Given the description of an element on the screen output the (x, y) to click on. 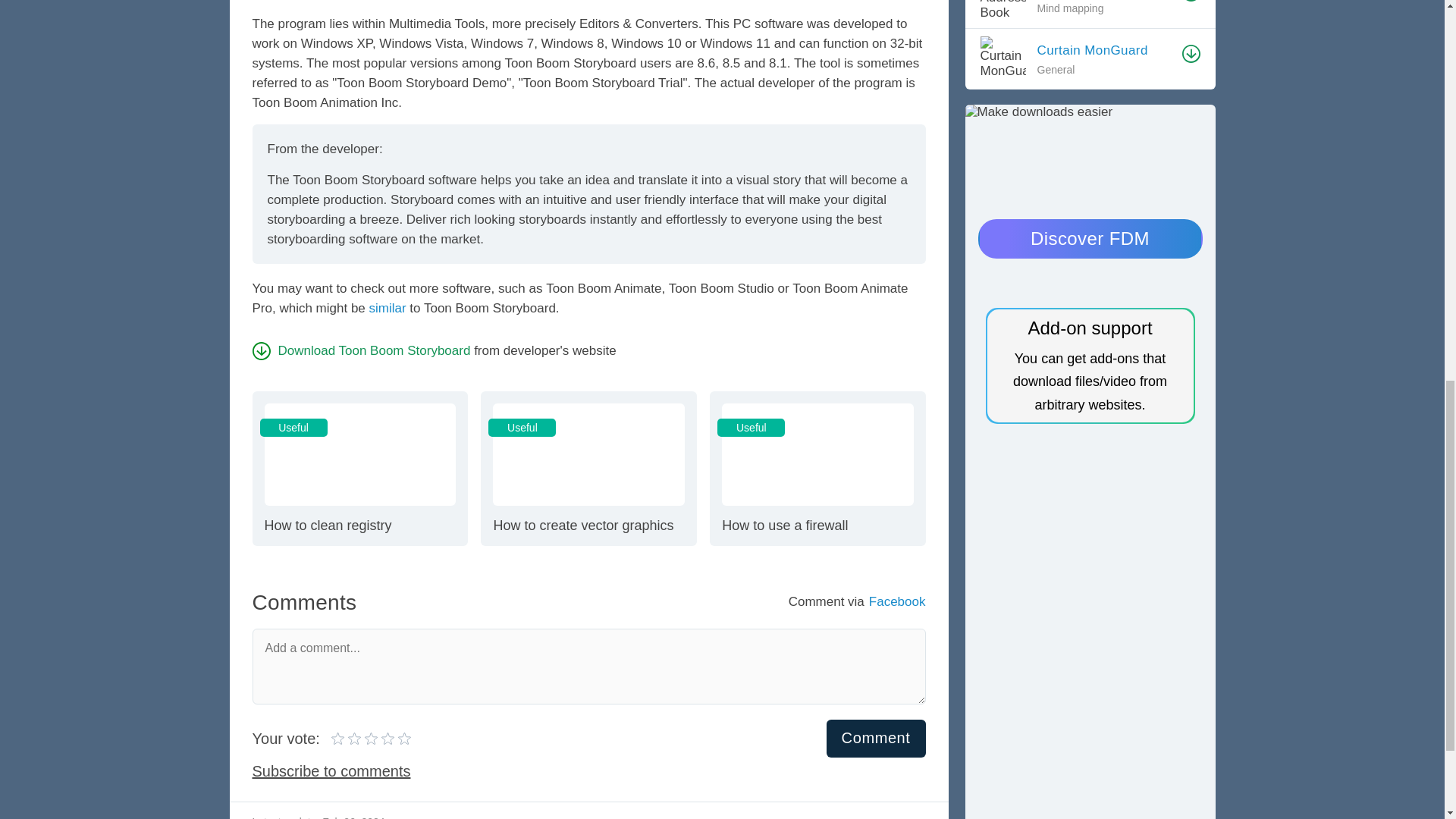
4 (363, 738)
3 (817, 468)
1 (355, 738)
similar (587, 468)
Download Toon Boom Storyboard (338, 738)
5 (387, 308)
Comment (360, 350)
Comment (370, 738)
